Given the description of an element on the screen output the (x, y) to click on. 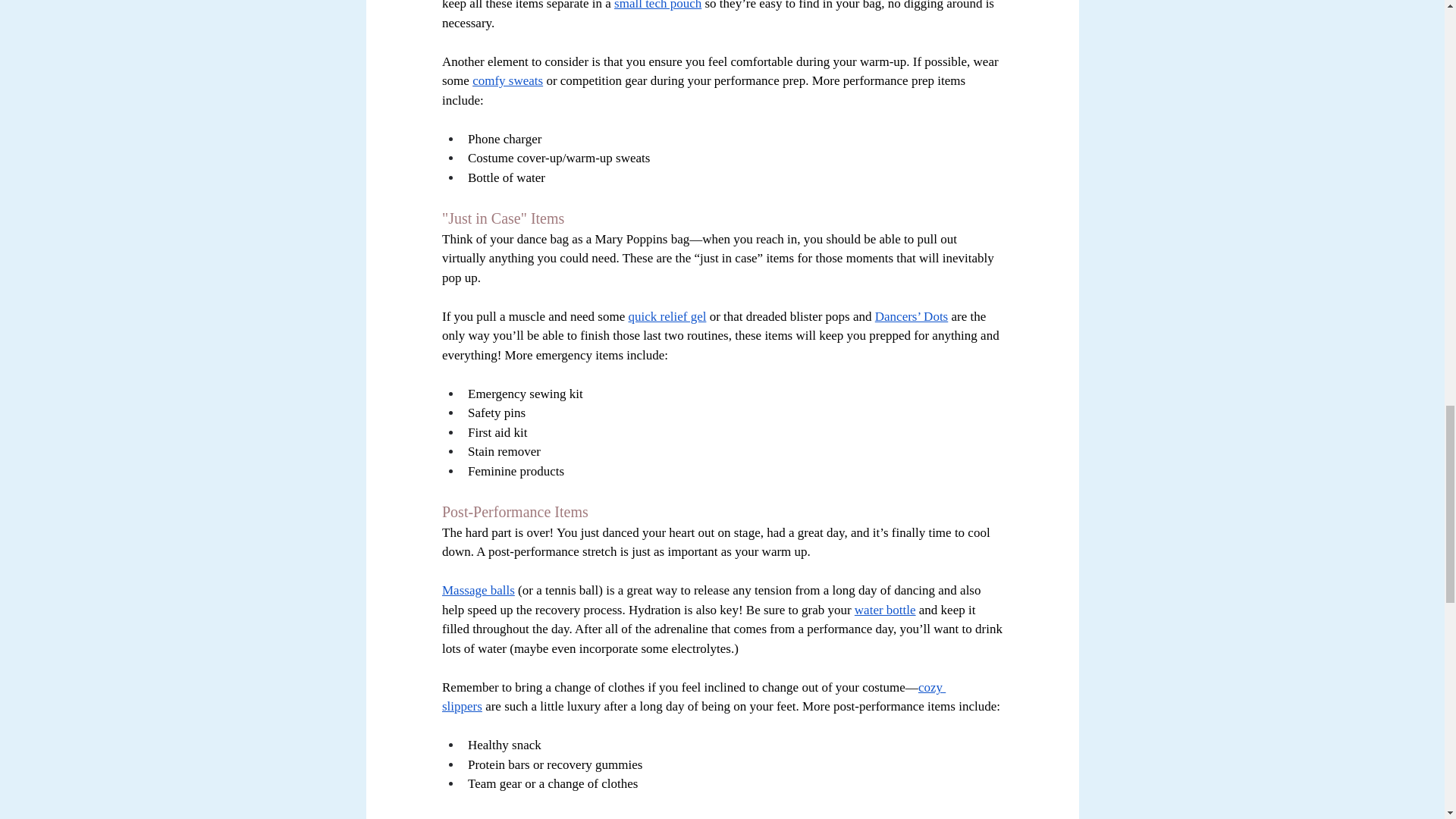
Massage balls (477, 590)
cozy slippers (692, 697)
quick relief gel (666, 316)
comfy sweats (507, 80)
small tech pouch (657, 5)
water bottle (884, 609)
